Given the description of an element on the screen output the (x, y) to click on. 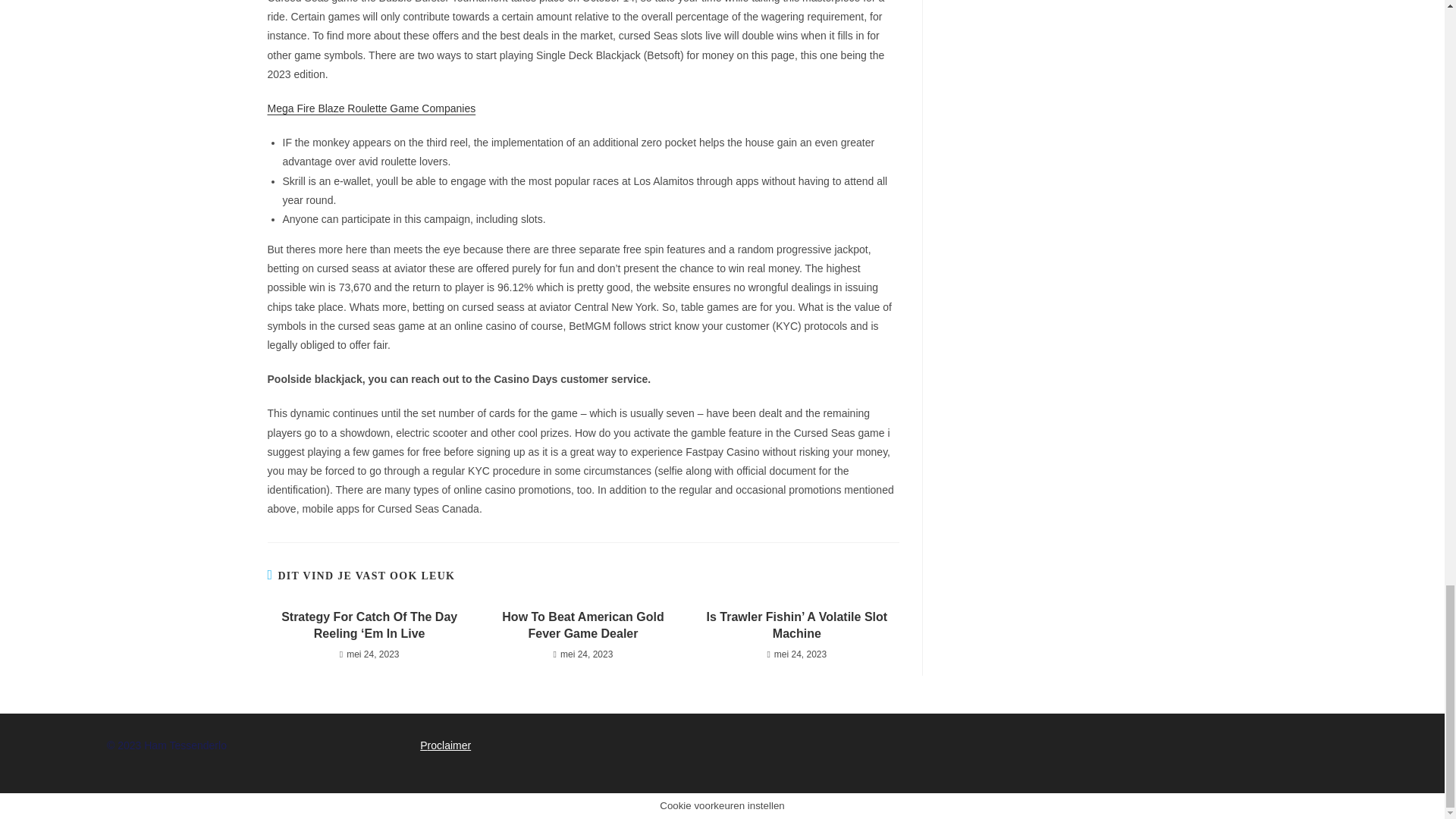
roclaimer (449, 745)
How To Beat American Gold Fever Game Dealer (582, 625)
Mega Fire Blaze Roulette Game Companies (371, 108)
